Given the description of an element on the screen output the (x, y) to click on. 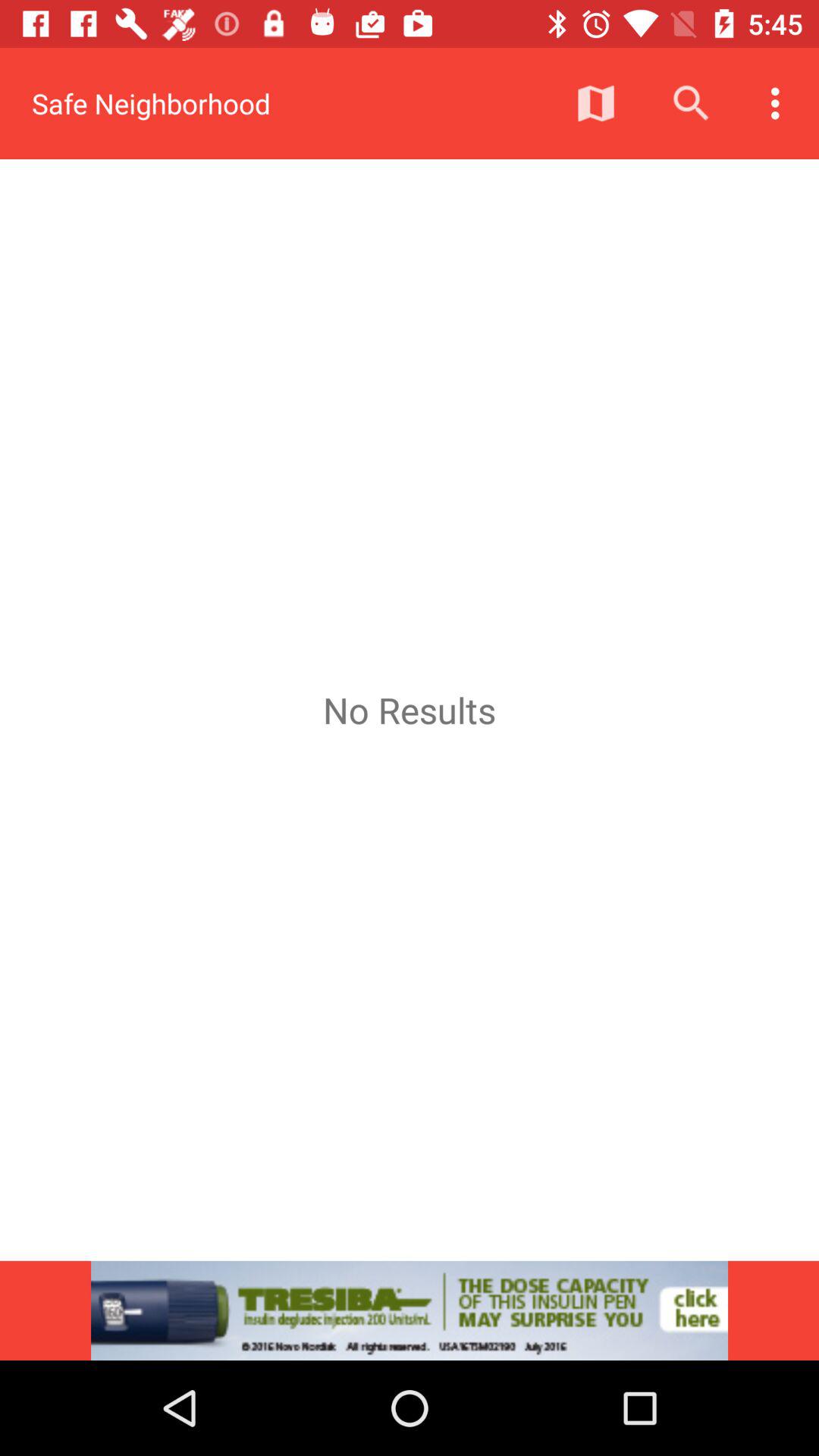
launch icon above no results item (691, 103)
